Given the description of an element on the screen output the (x, y) to click on. 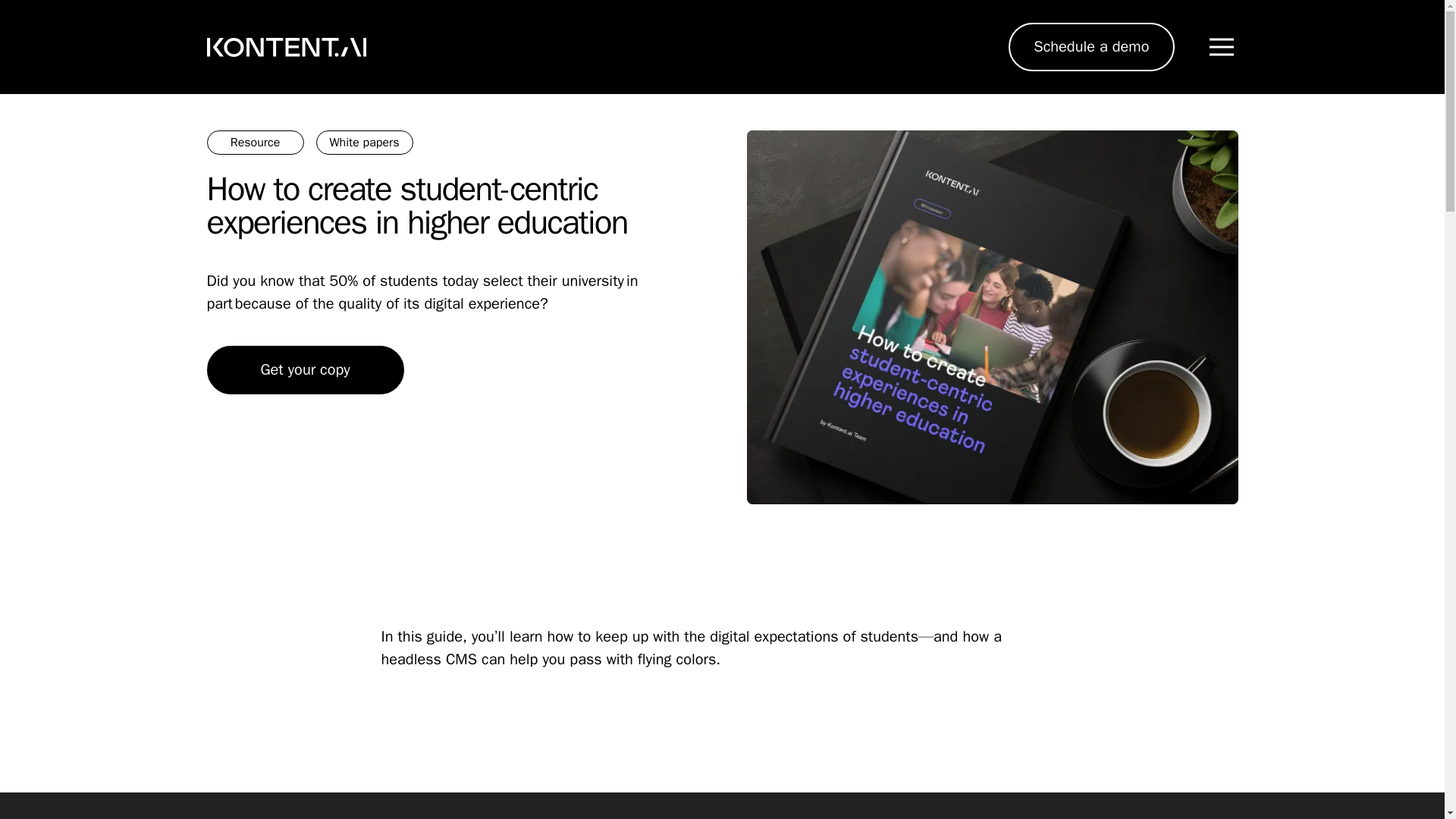
Schedule a demo (1091, 46)
Resource (254, 142)
Get your copy (304, 369)
White papers (363, 142)
Kontent.ai (285, 46)
